Given the description of an element on the screen output the (x, y) to click on. 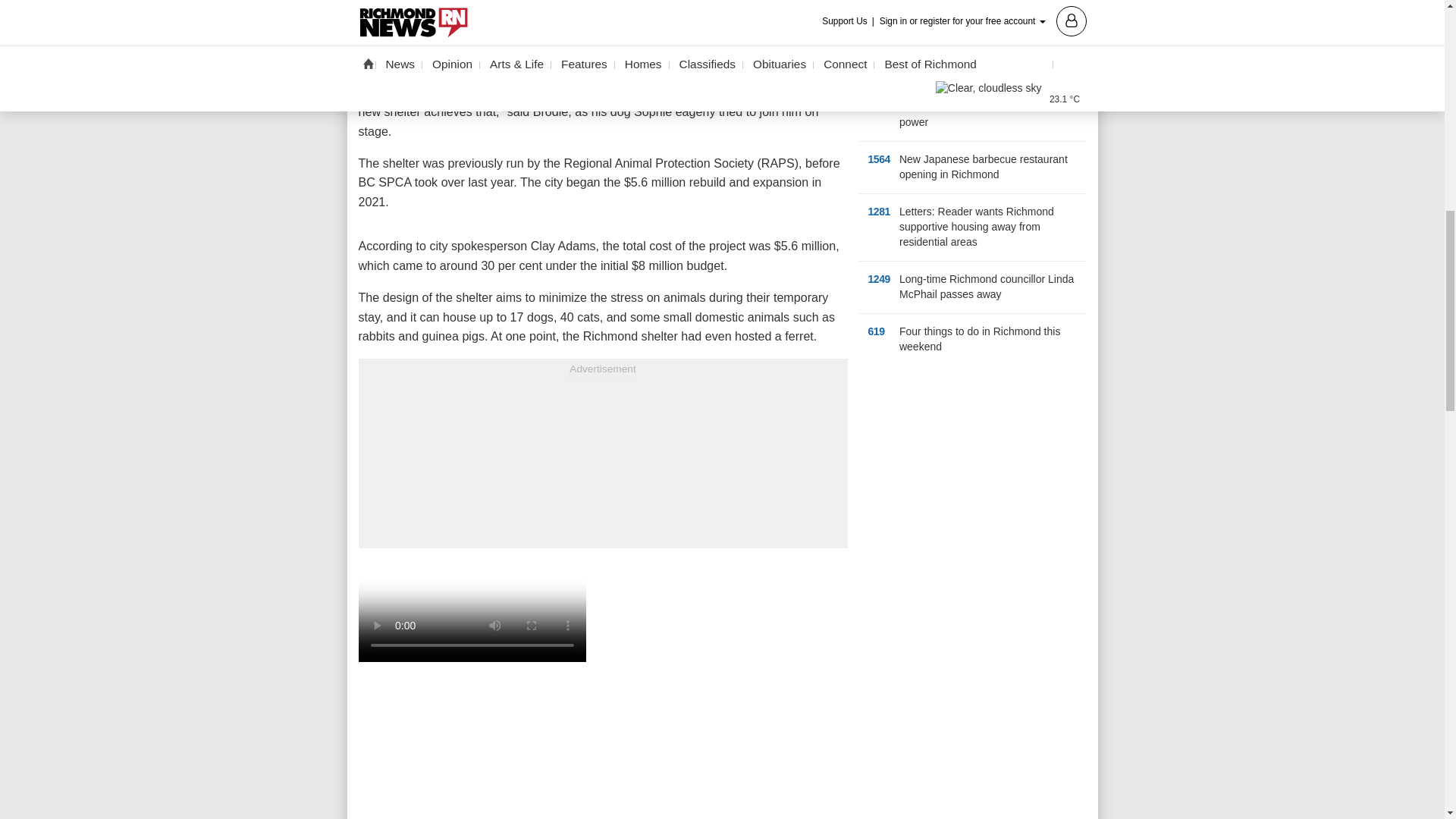
Has a gallery (1007, 174)
